Given the description of an element on the screen output the (x, y) to click on. 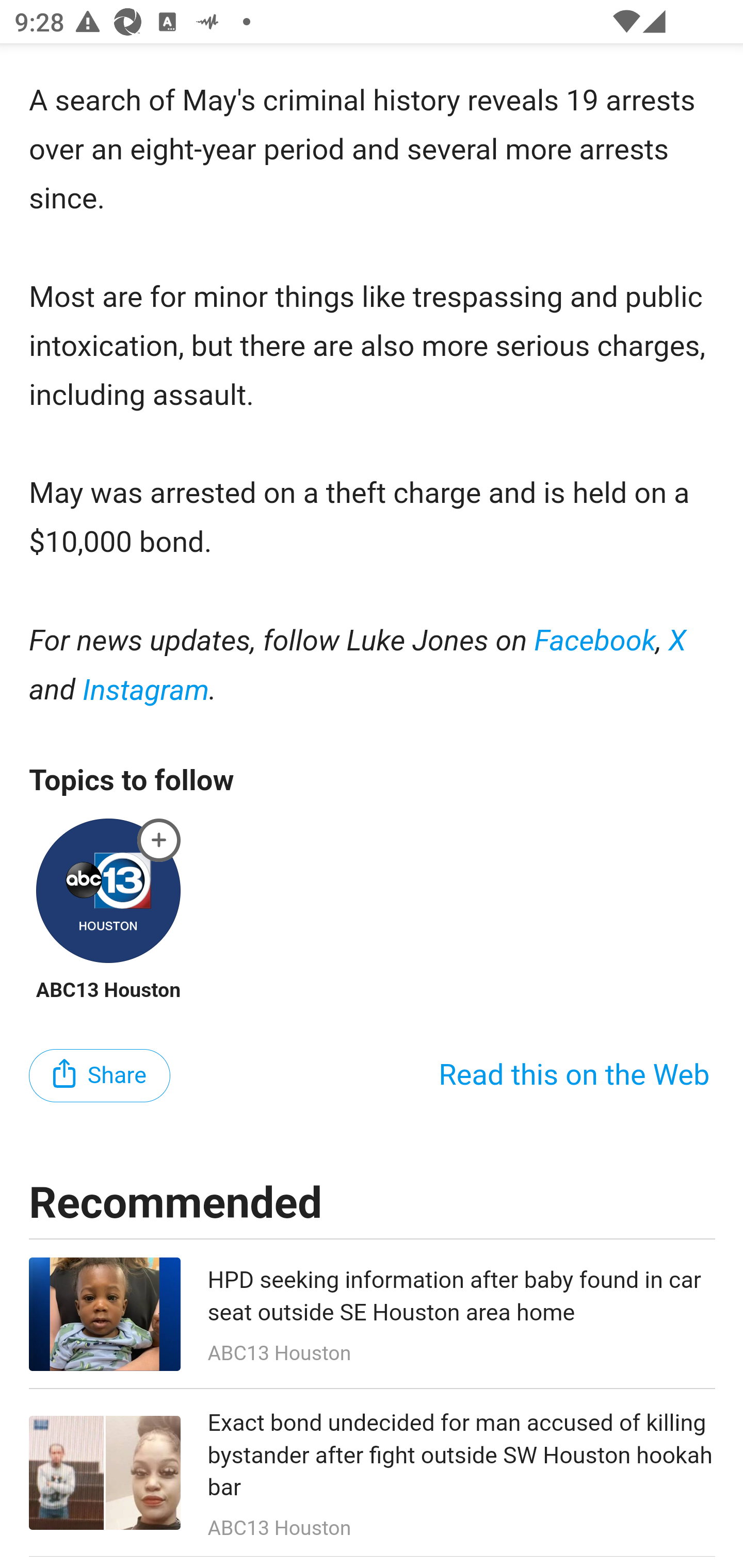
Facebook (594, 642)
X (677, 642)
Instagram (145, 691)
14556087 (159, 839)
ABC13 Houston (108, 990)
Read this on the Web (573, 1077)
Share (99, 1076)
